Given the description of an element on the screen output the (x, y) to click on. 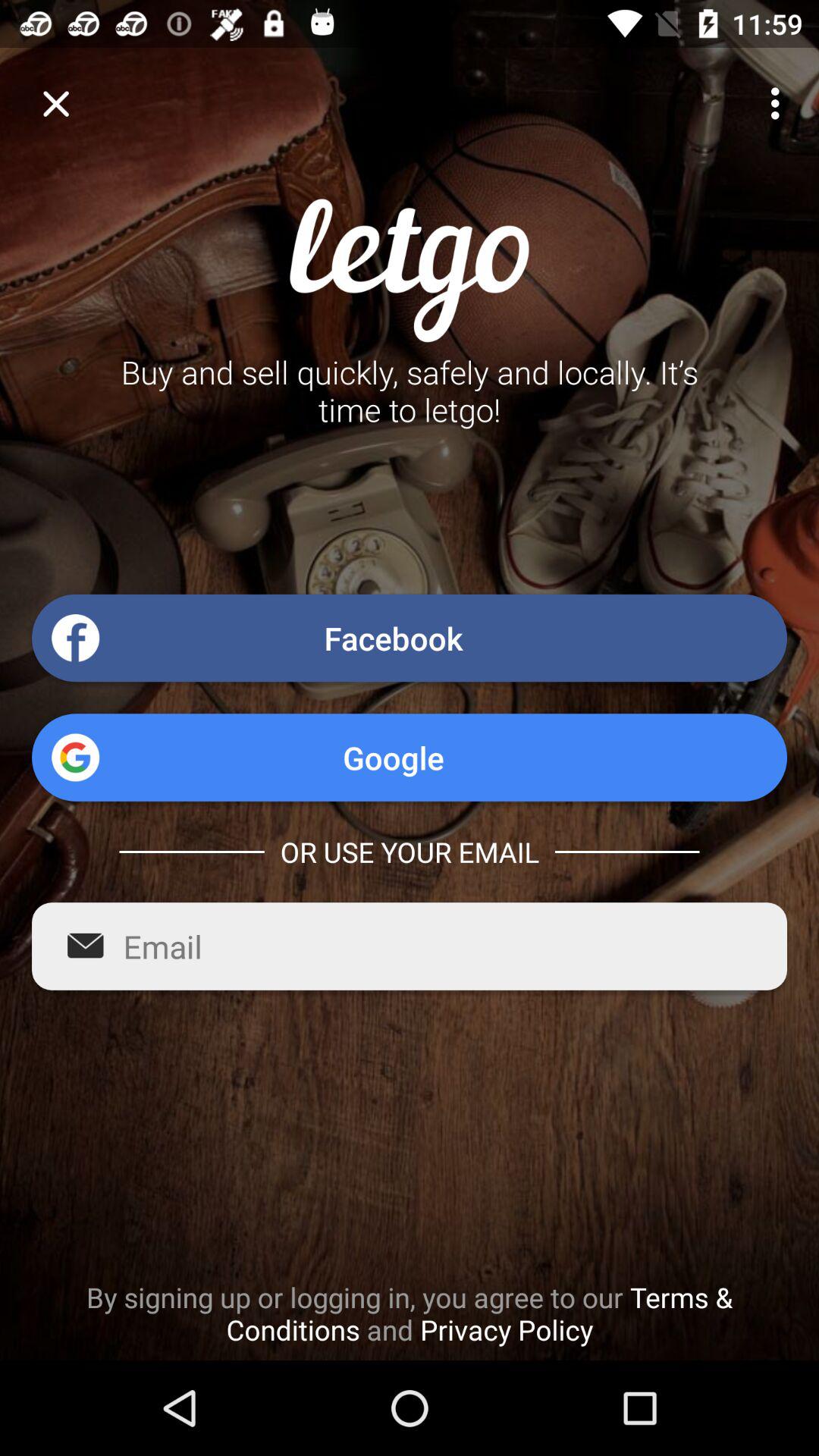
choose the item below the email (409, 1313)
